Given the description of an element on the screen output the (x, y) to click on. 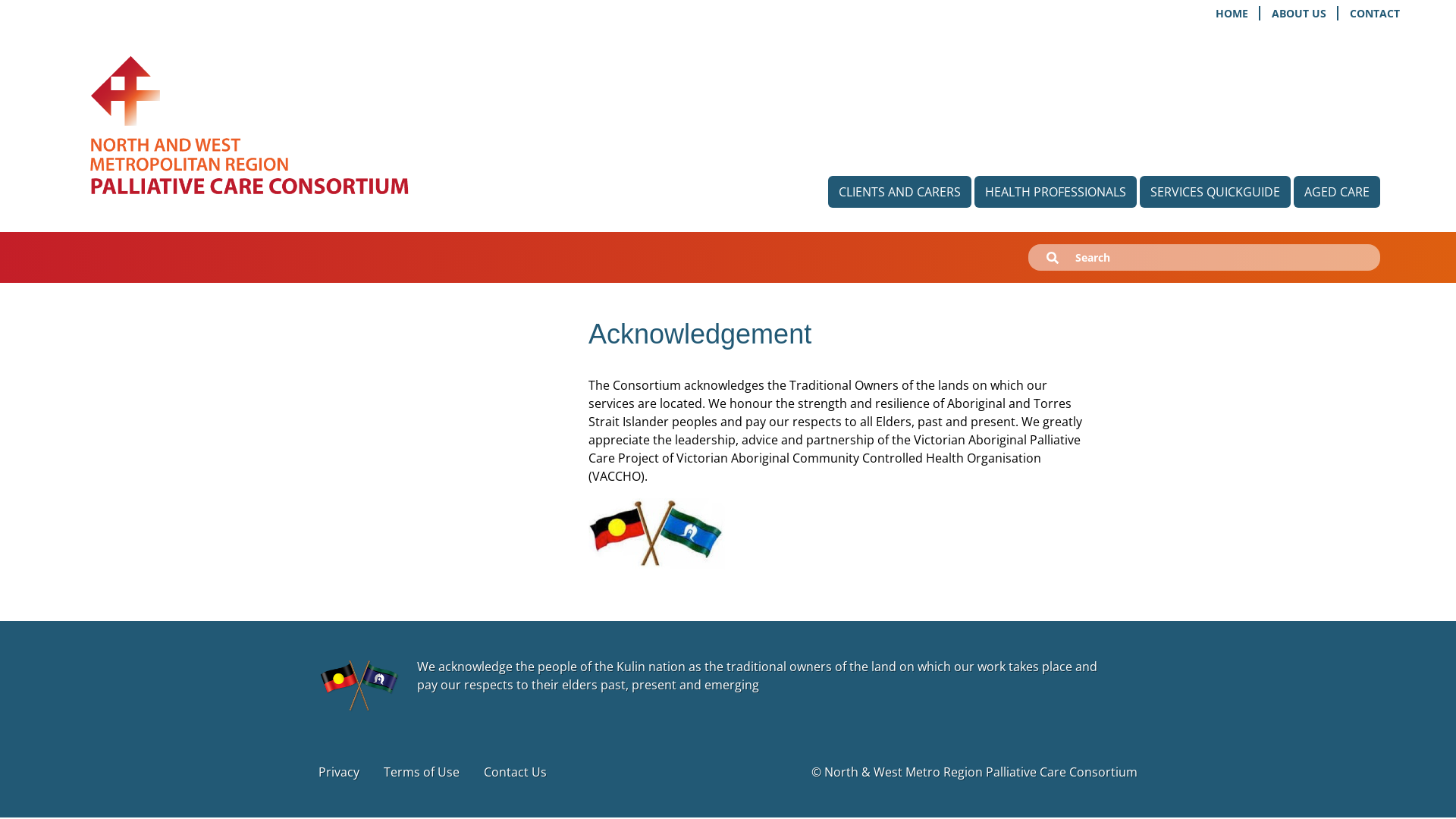
Search for: Element type: hover (1140, 257)
Privacy Element type: text (338, 771)
Submit Element type: text (1052, 258)
Terms of Use Element type: text (421, 771)
HOME Element type: text (1232, 13)
CONTACT Element type: text (1374, 13)
HEALTH PROFESSIONALS Element type: text (1055, 191)
AGED CARE Element type: text (1336, 191)
ABOUT US Element type: text (1299, 13)
Contact Us Element type: text (514, 771)
SERVICES QUICKGUIDE Element type: text (1214, 191)
CLIENTS AND CARERS Element type: text (899, 191)
